Given the description of an element on the screen output the (x, y) to click on. 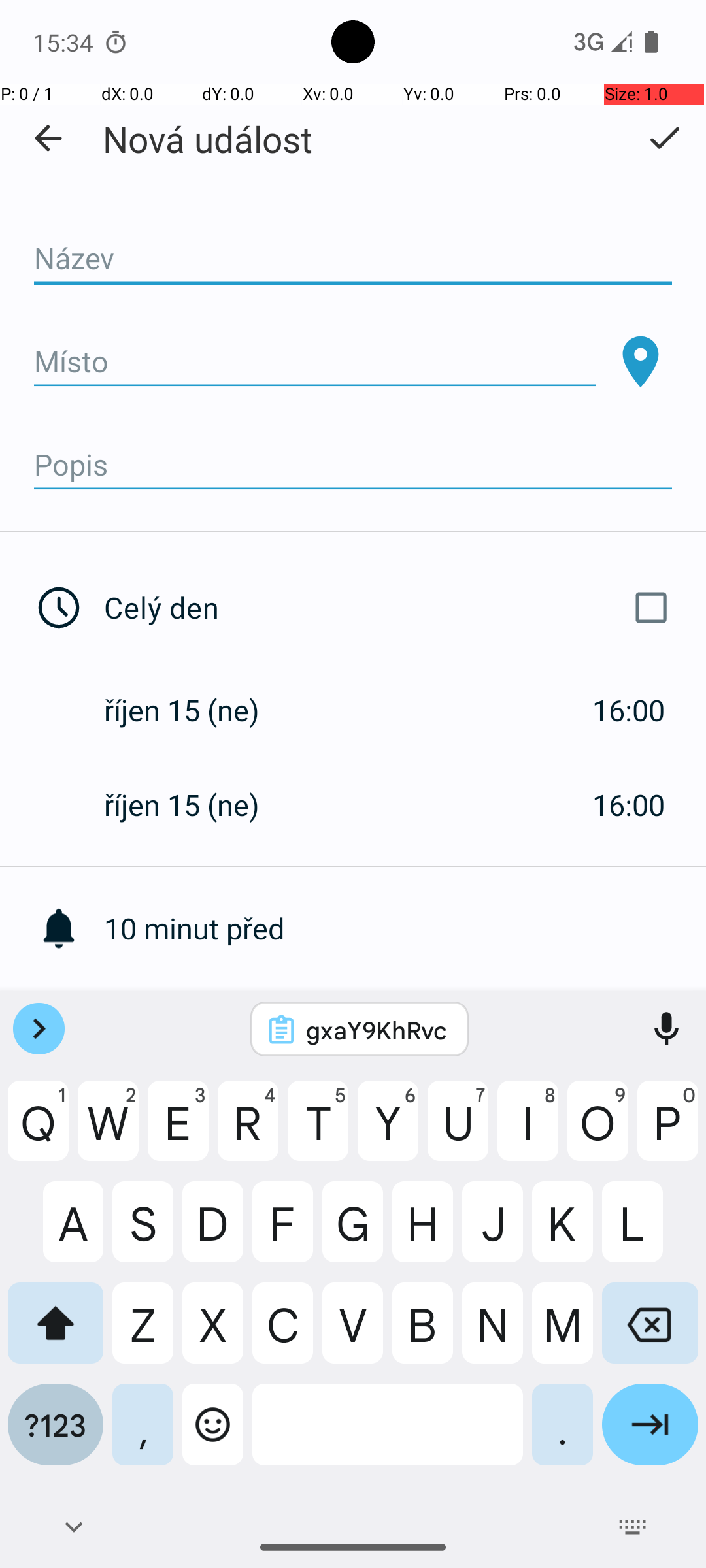
Uložit Element type: android.widget.Button (664, 137)
Název Element type: android.widget.EditText (352, 258)
Místo Element type: android.widget.EditText (314, 361)
Popis Element type: android.widget.EditText (352, 465)
říjen 15 (ne) Element type: android.widget.TextView (194, 709)
10 minut před Element type: android.widget.TextView (404, 927)
Přidat další připomínku Element type: android.widget.TextView (404, 1022)
Celý den Element type: android.widget.CheckBox (390, 607)
gxaY9KhRvc Element type: android.widget.TextView (376, 1029)
